Given the description of an element on the screen output the (x, y) to click on. 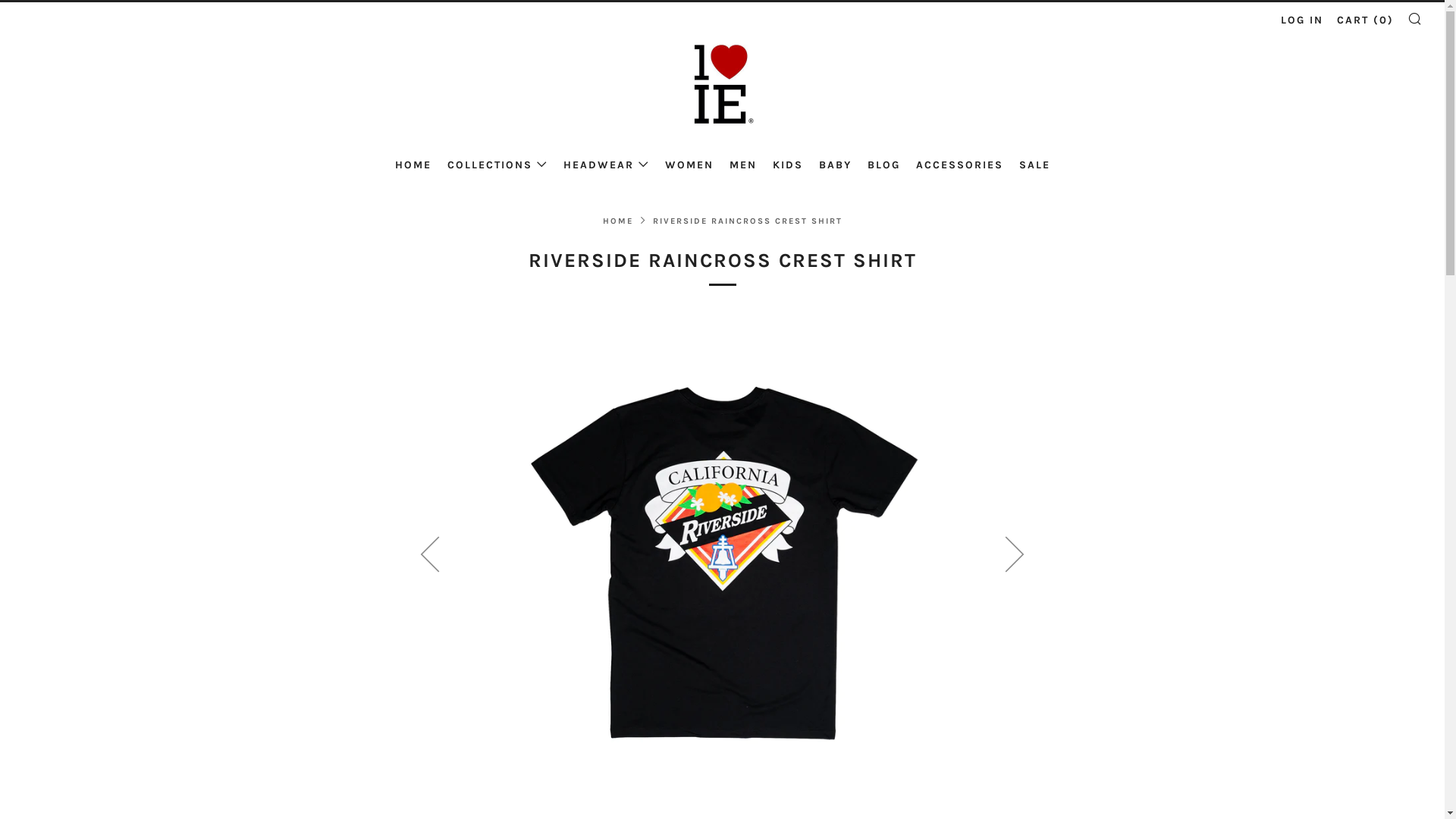
SALE Element type: text (1034, 164)
HEADWEAR Element type: text (605, 164)
HOME Element type: text (412, 164)
ACCESSORIES Element type: text (959, 164)
WOMEN Element type: text (688, 164)
KIDS Element type: text (786, 164)
BLOG Element type: text (883, 164)
BABY Element type: text (835, 164)
COLLECTIONS Element type: text (497, 164)
SEARCH Element type: text (1414, 18)
HOME Element type: text (617, 220)
MEN Element type: text (742, 164)
CART (0) Element type: text (1364, 19)
LOG IN Element type: text (1301, 19)
